Given the description of an element on the screen output the (x, y) to click on. 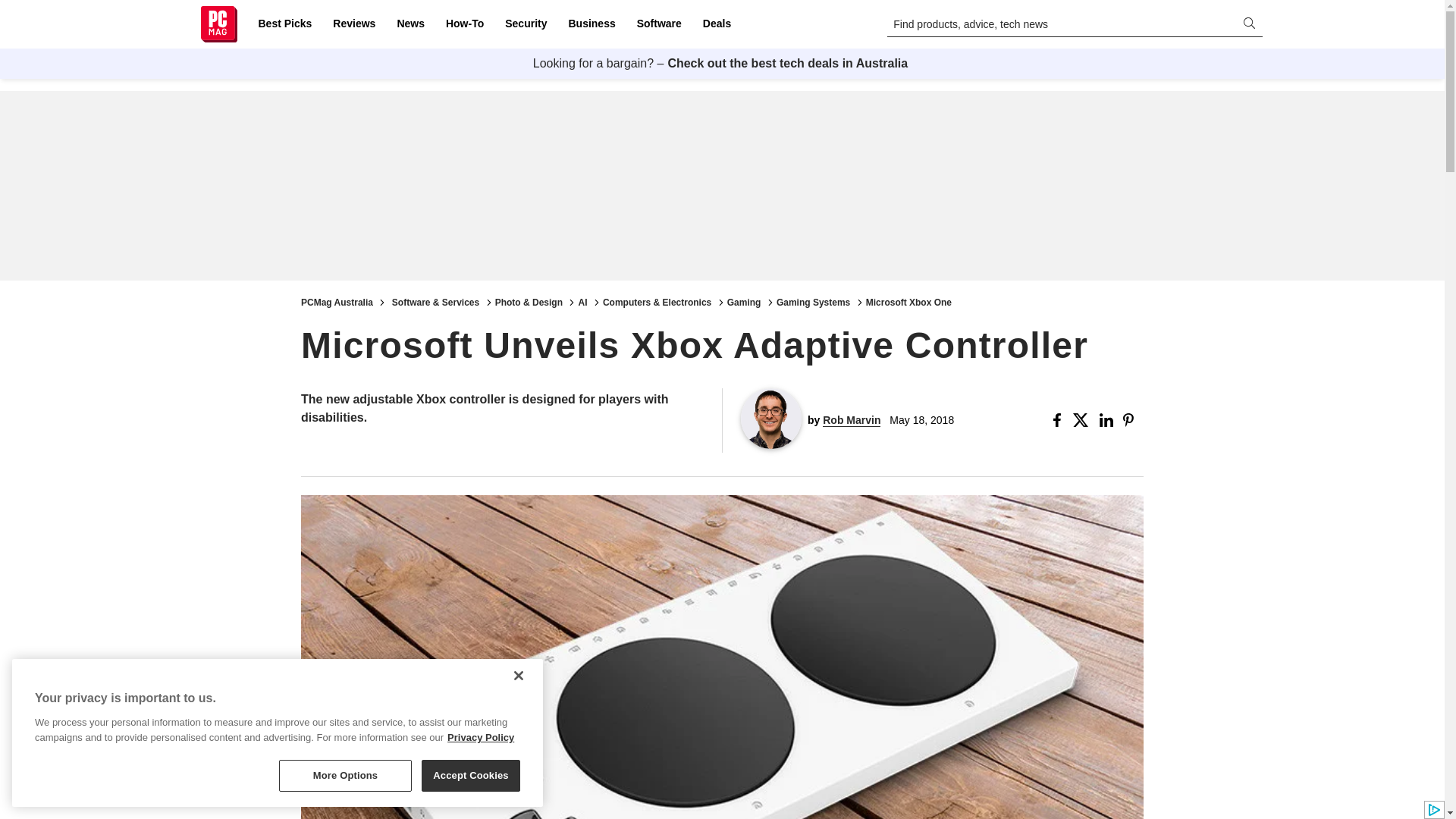
How-To (464, 24)
Best Picks (284, 24)
Share this Story on Linkedin (1107, 419)
Security (526, 24)
Share this Story on Pinterest (1132, 419)
Reviews (353, 24)
Business (591, 24)
Share this Story on X (1083, 419)
Share this Story on Facebook (1059, 419)
